Given the description of an element on the screen output the (x, y) to click on. 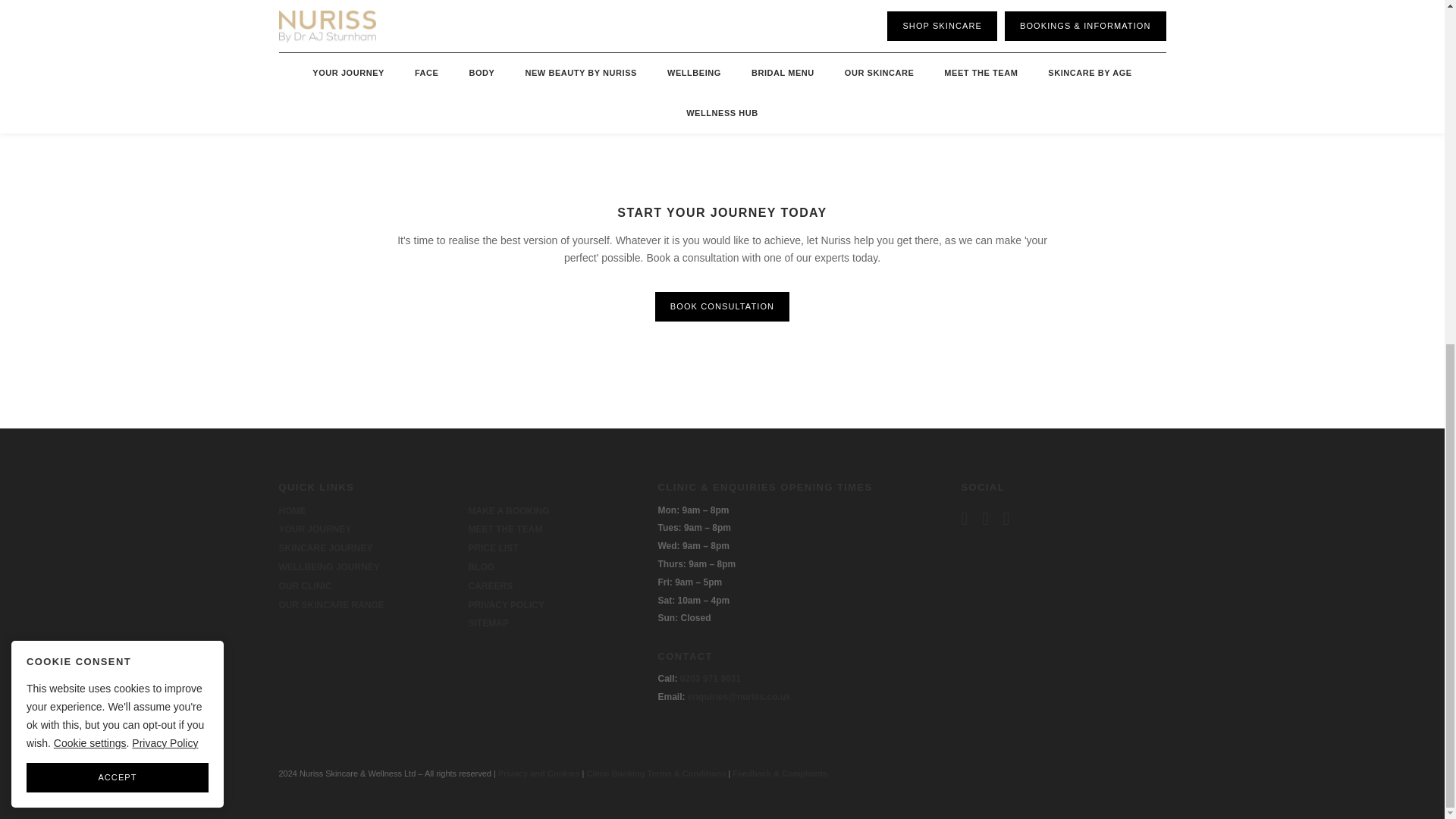
Sitemap (488, 623)
Our Clinic (305, 585)
Price List (493, 547)
Home (292, 511)
Our Skincare Range (331, 604)
Skincare Journey (325, 547)
Your Journey (315, 529)
Make a booking (509, 511)
Careers (490, 585)
Meet the team (505, 529)
Blog (481, 566)
Wellbeing Journey (329, 566)
Privacy Policy (506, 604)
